Given the description of an element on the screen output the (x, y) to click on. 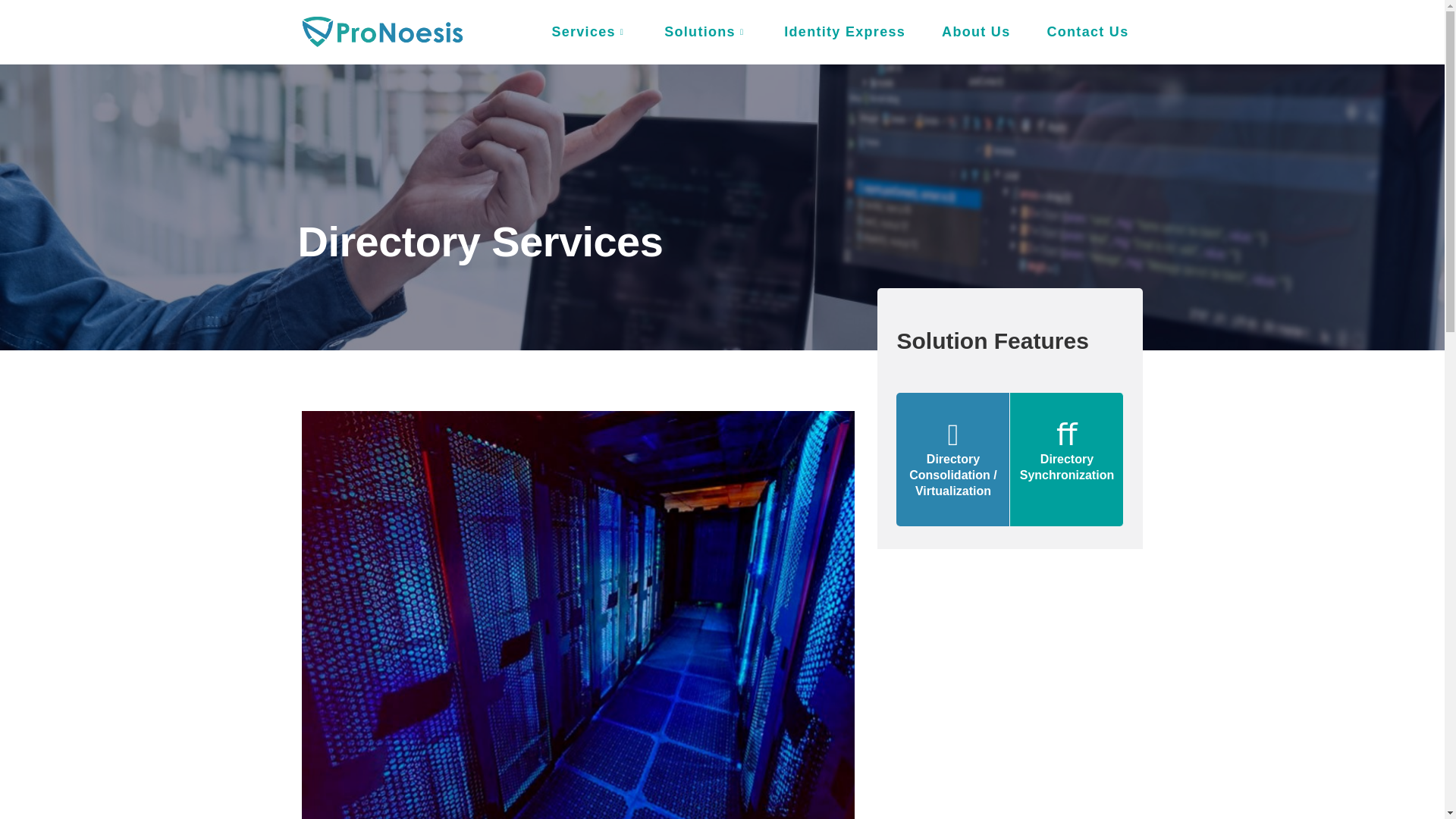
Services (589, 31)
Contact Us (1087, 31)
About Us (975, 31)
Identity Express (844, 31)
Pronoesis (381, 32)
Solutions (705, 31)
